Given the description of an element on the screen output the (x, y) to click on. 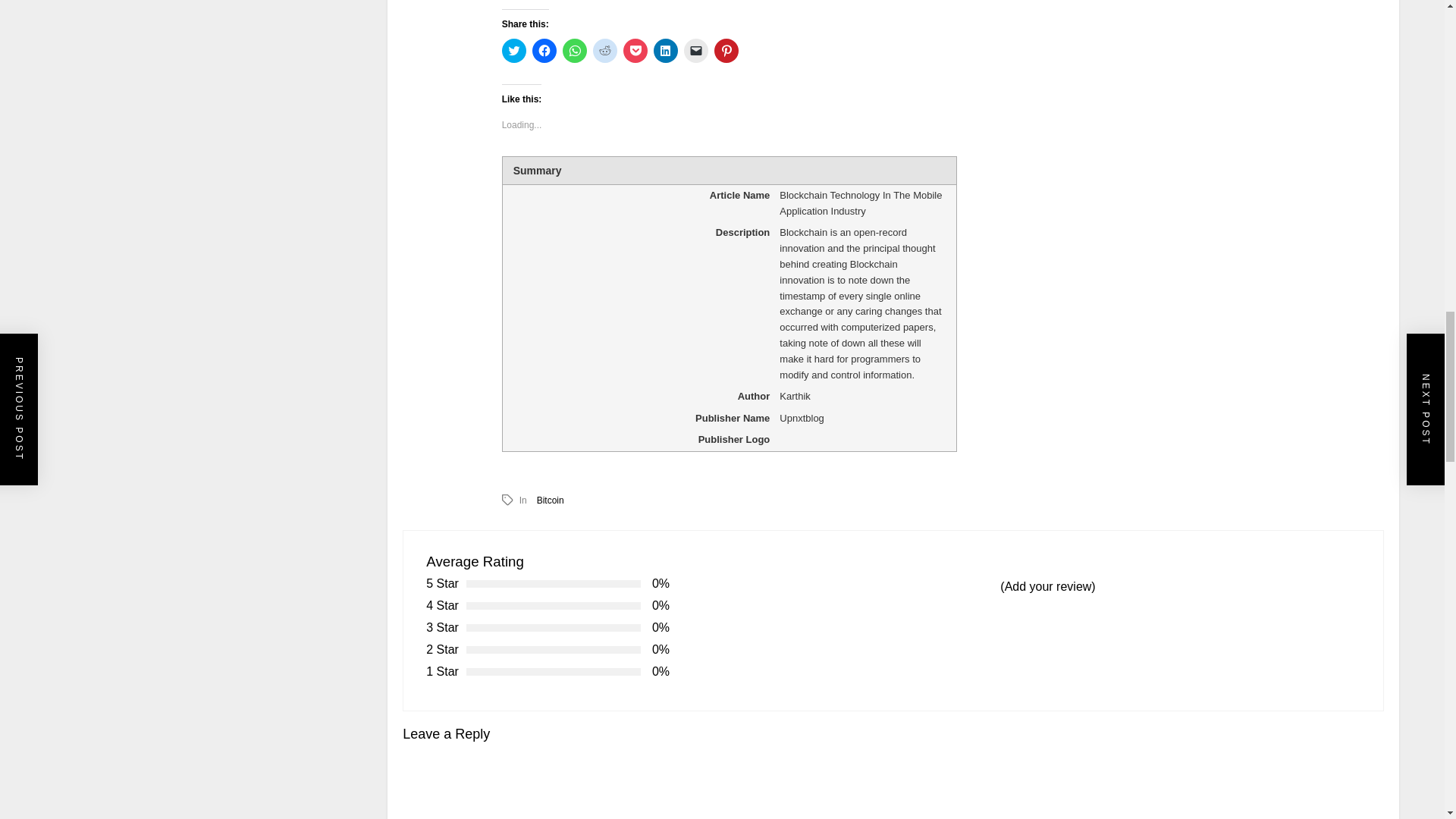
Click to share on Facebook (544, 50)
Click to share on Twitter (513, 50)
Click to share on Reddit (604, 50)
Click to share on WhatsApp (574, 50)
